Given the description of an element on the screen output the (x, y) to click on. 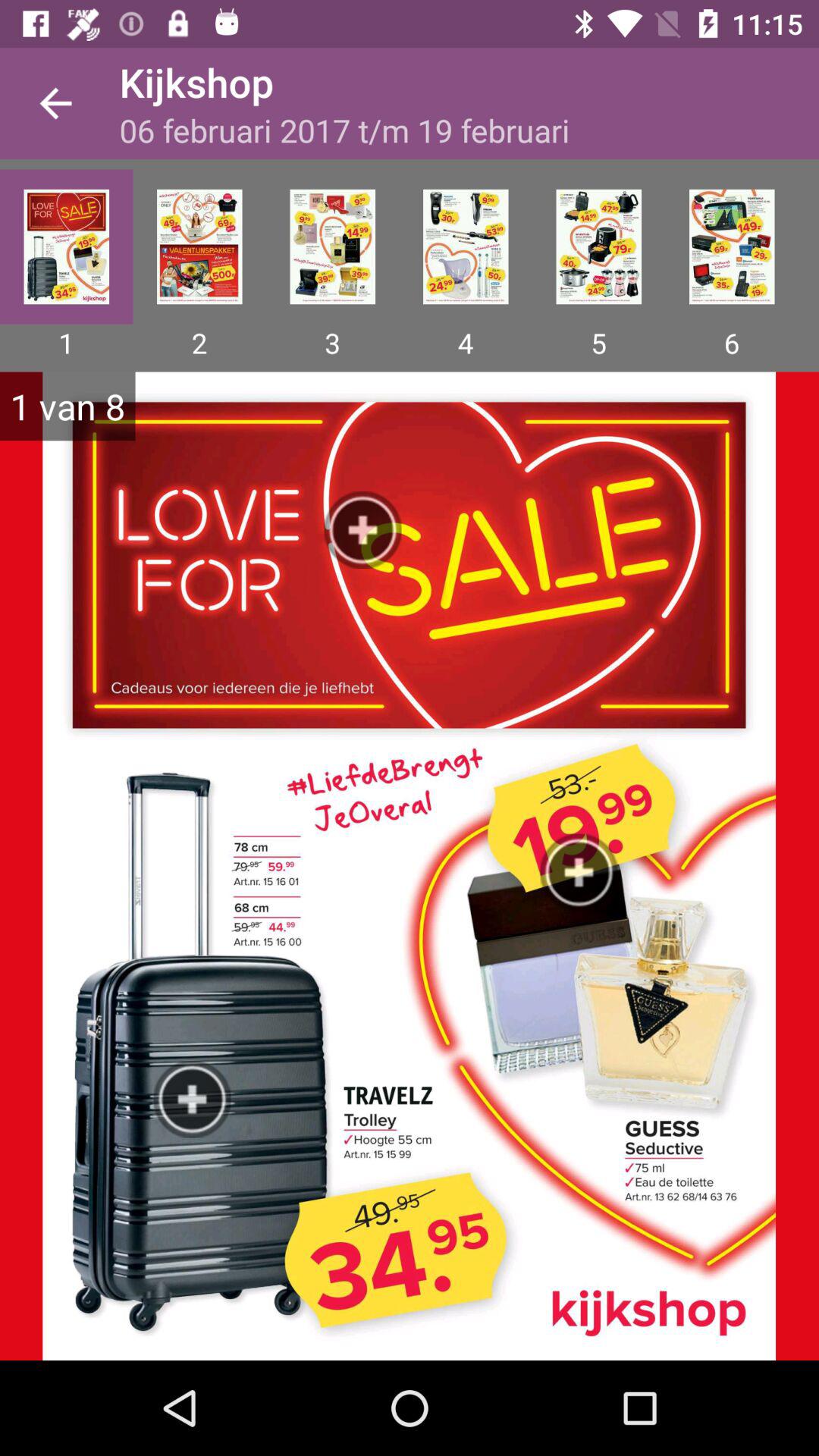
expand photo number one (66, 246)
